Given the description of an element on the screen output the (x, y) to click on. 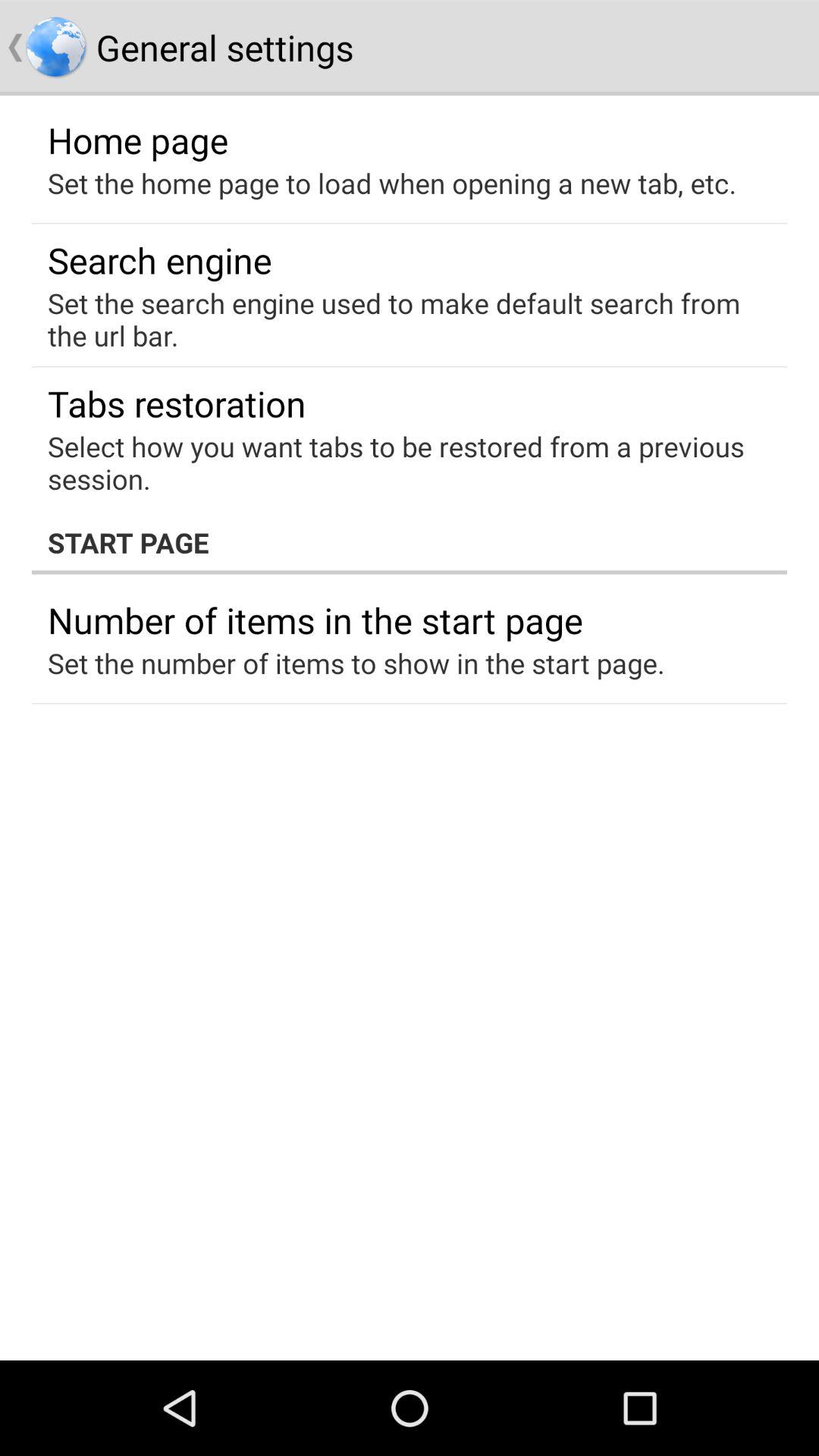
choose the item below the set the search item (176, 403)
